Given the description of an element on the screen output the (x, y) to click on. 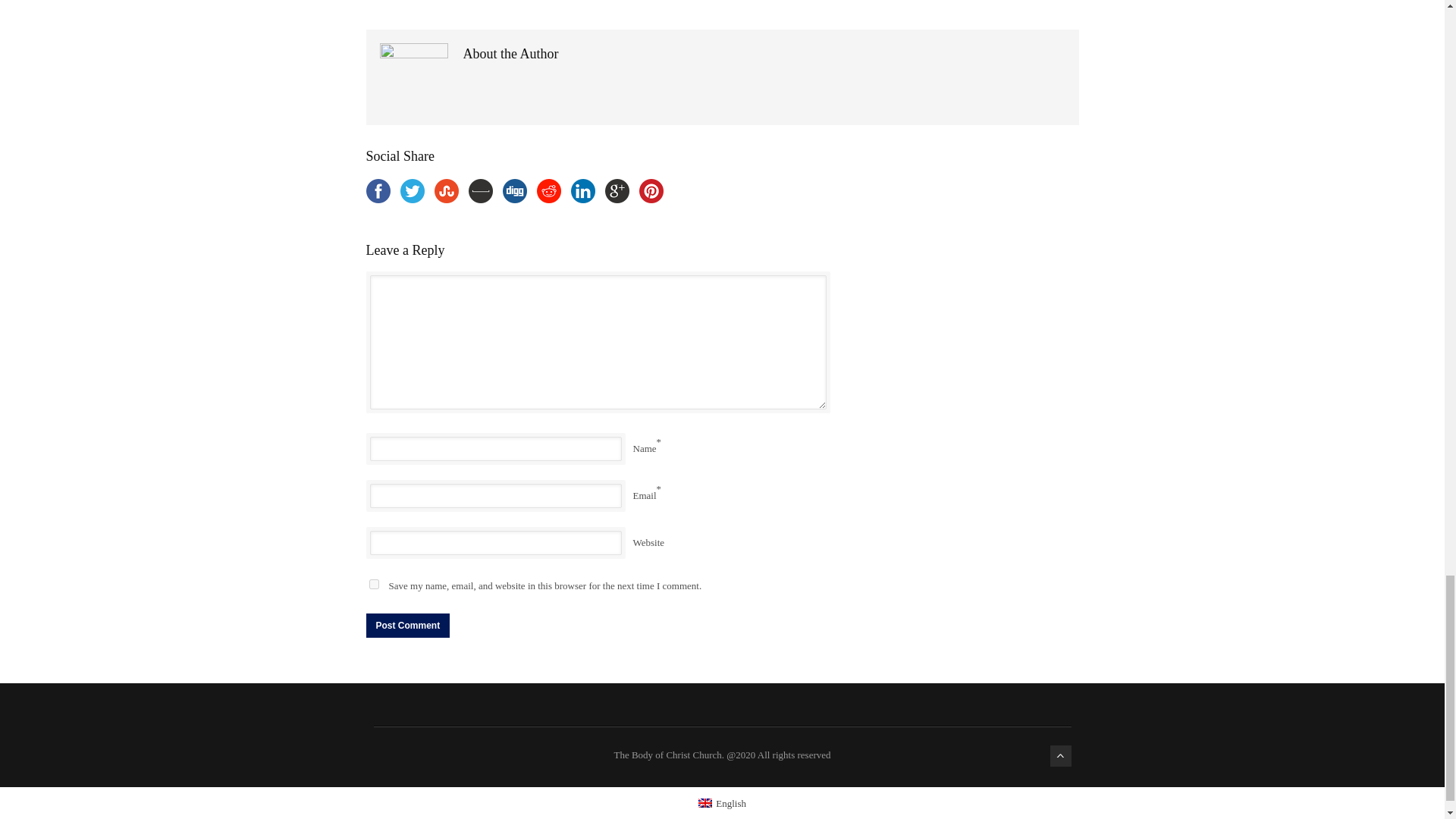
Post Comment (407, 625)
yes (373, 583)
